Given the description of an element on the screen output the (x, y) to click on. 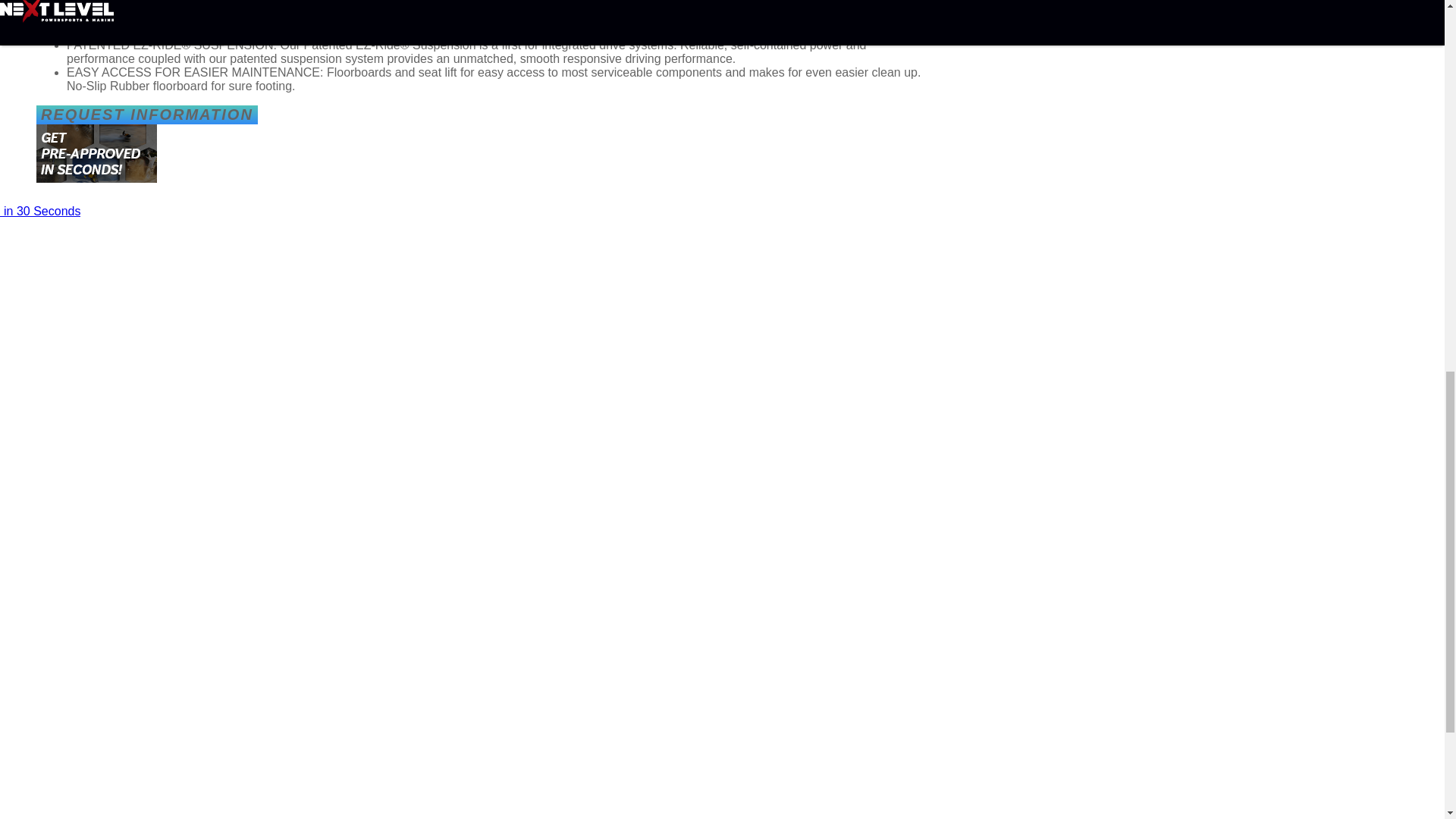
REQUEST INFORMATION (146, 114)
